Given the description of an element on the screen output the (x, y) to click on. 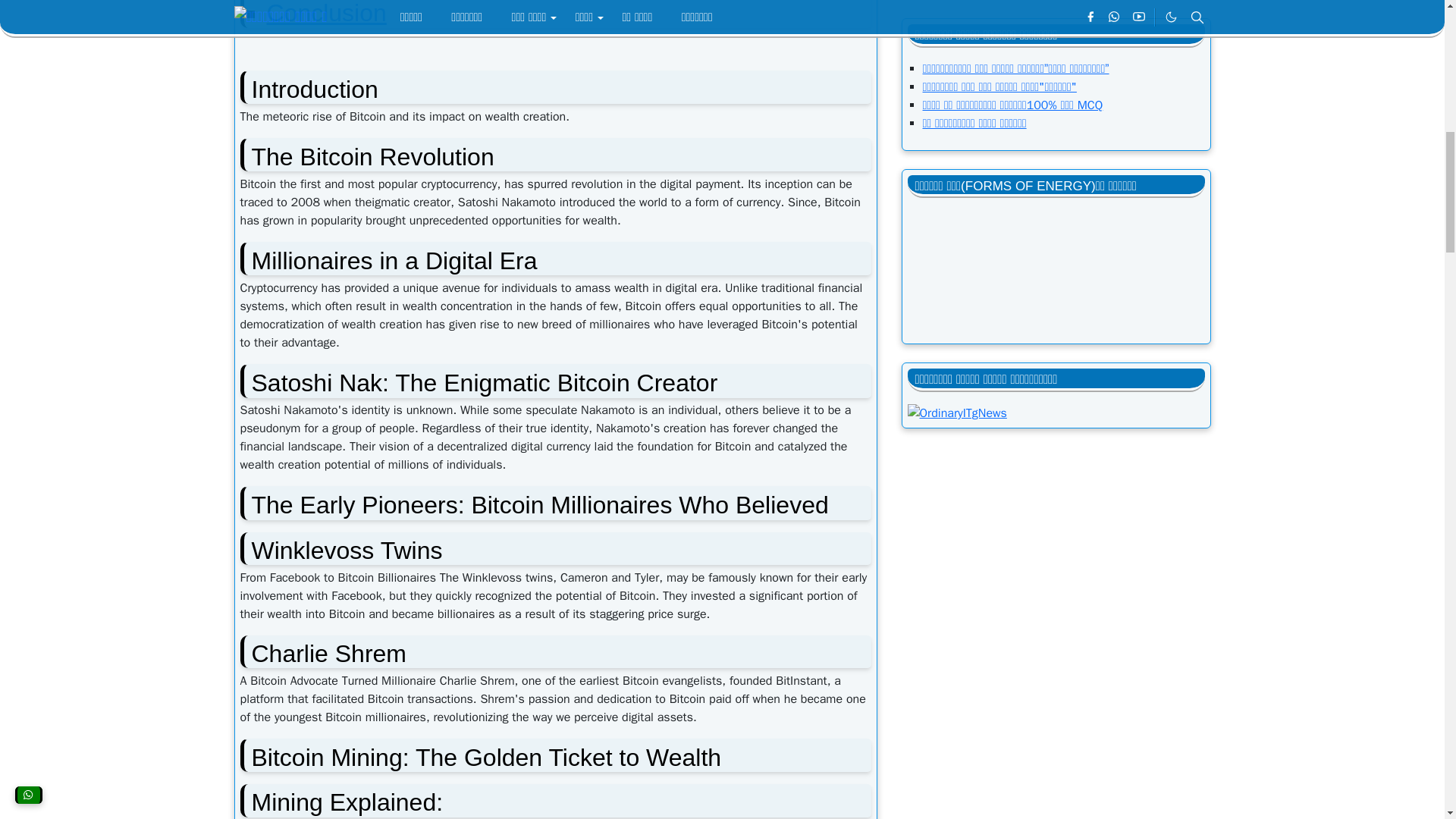
YouTube video player (1056, 188)
